Given the description of an element on the screen output the (x, y) to click on. 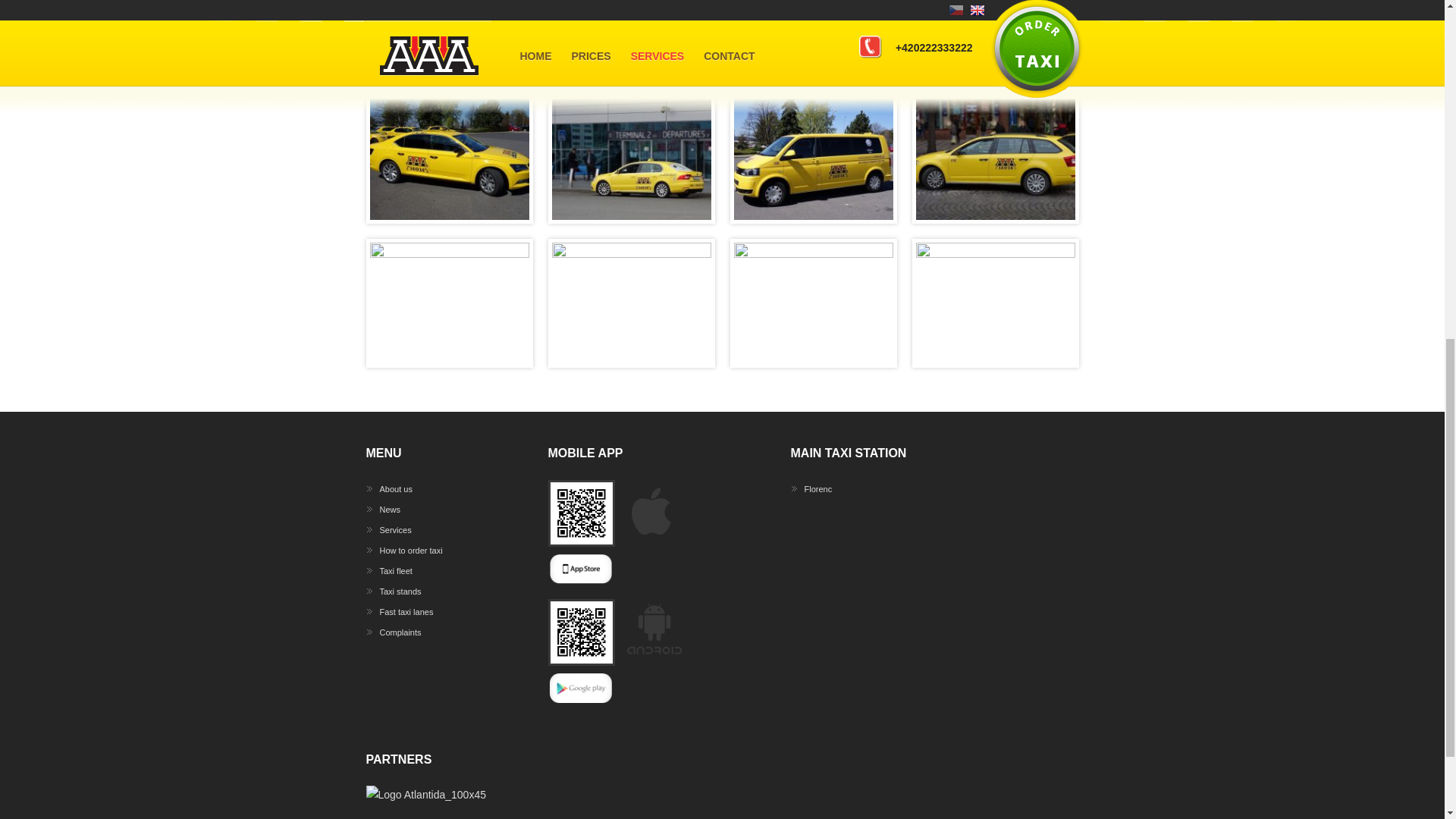
Florenc (817, 488)
Taxi fleet (395, 570)
mobile app (534, 62)
iOS (650, 62)
Android (598, 62)
Fast taxi lanes (405, 611)
Taxi stands (399, 590)
How to order taxi (410, 549)
News (389, 508)
Services (394, 529)
